Given the description of an element on the screen output the (x, y) to click on. 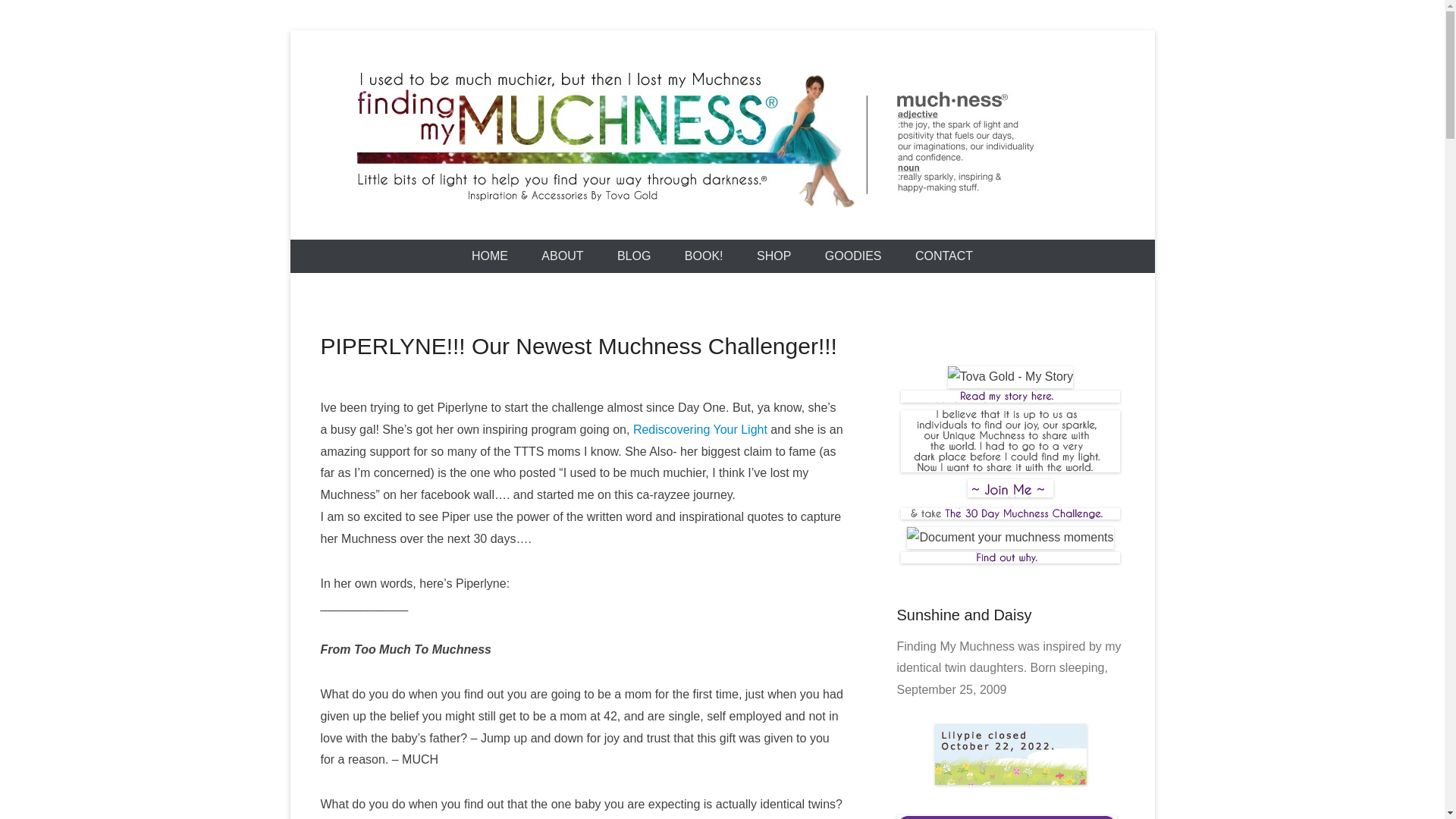
PIPERLYNE!!! Our Newest Muchness Challenger!!! (577, 345)
CONTACT (943, 255)
Rediscovering Your Light (700, 429)
SHOP (773, 255)
LinkedIn (1007, 315)
GOODIES (852, 255)
Join Me - Create your own Muchness account (1010, 492)
BLOG (633, 255)
Finding My Muchness (518, 235)
